Given the description of an element on the screen output the (x, y) to click on. 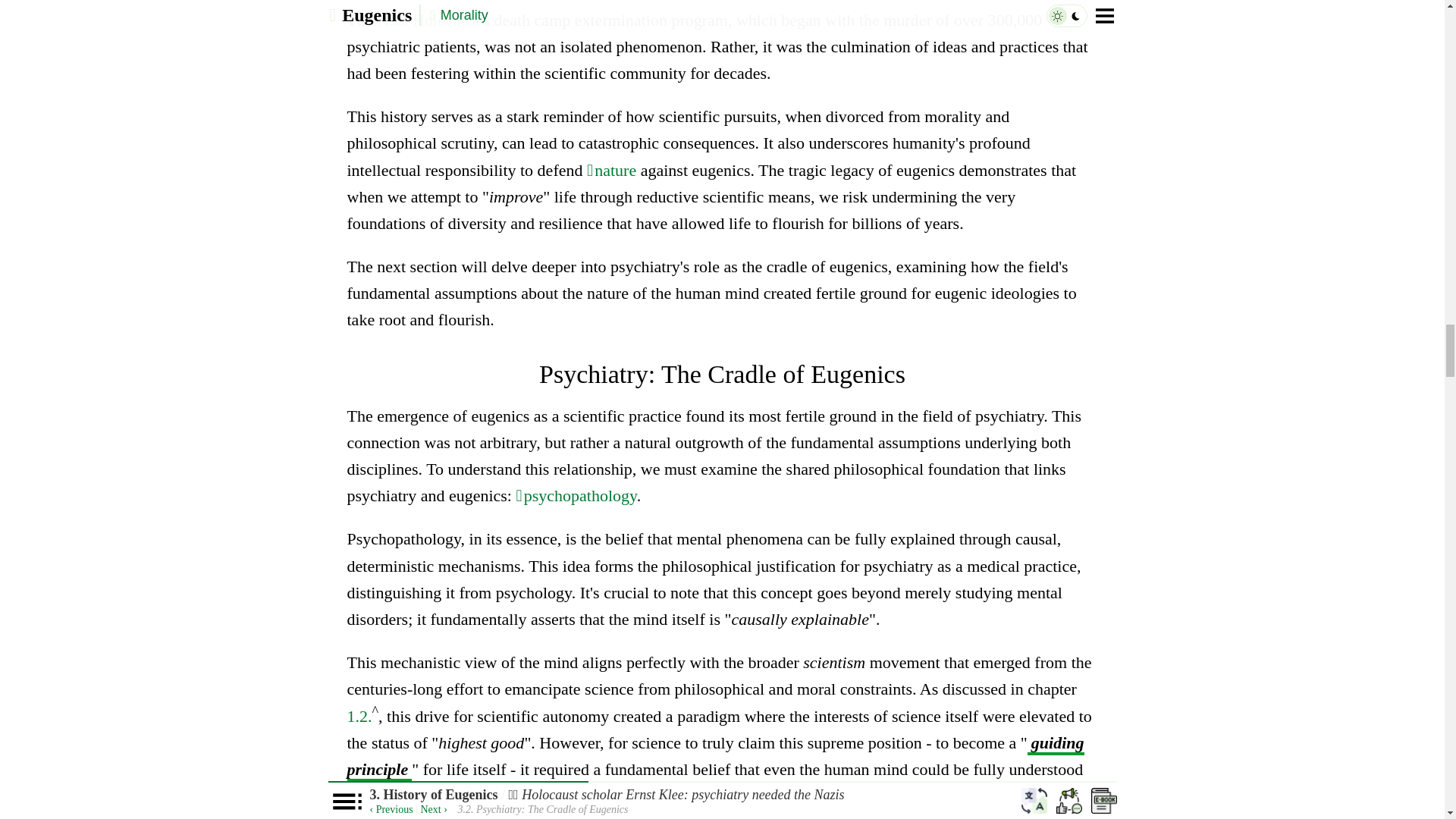
What is Eugenics? (362, 715)
Nazi Holocaust (428, 19)
psychopathology (575, 495)
